Given the description of an element on the screen output the (x, y) to click on. 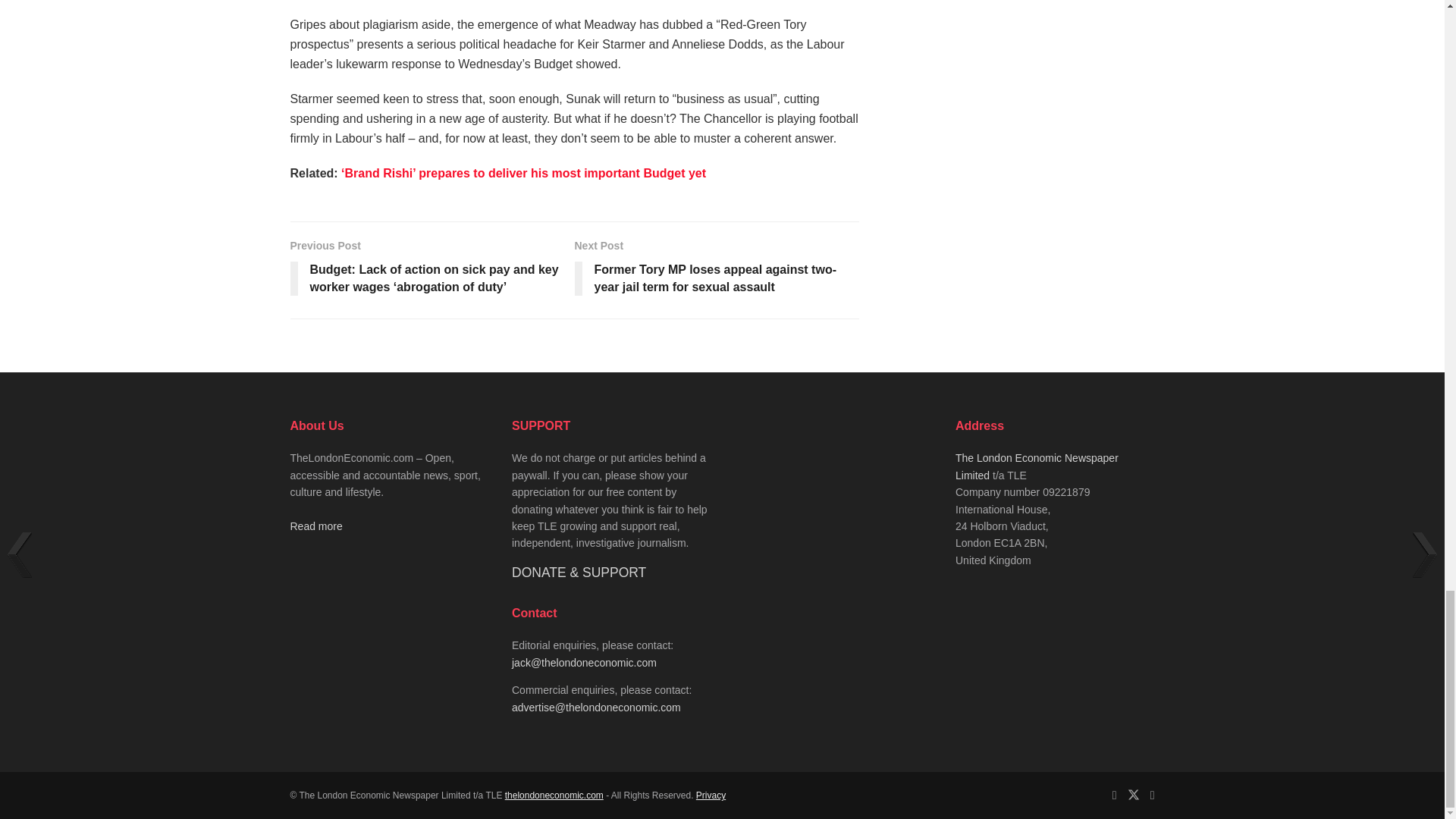
The London Economic (554, 795)
Privacy (710, 795)
